Given the description of an element on the screen output the (x, y) to click on. 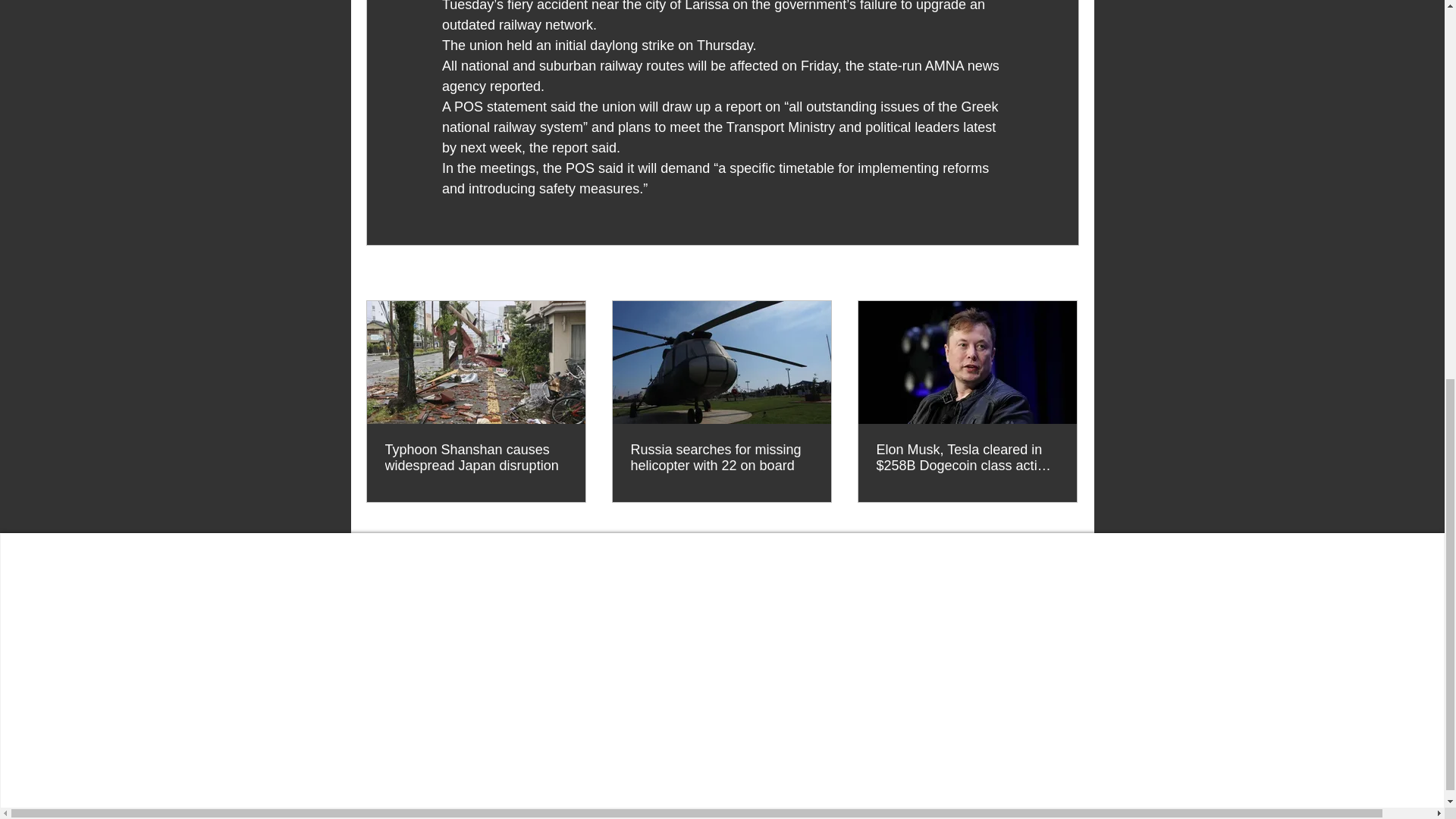
Russia searches for missing helicopter with 22 on board (721, 458)
See All (1061, 273)
Typhoon Shanshan causes widespread Japan disruption (476, 458)
